Given the description of an element on the screen output the (x, y) to click on. 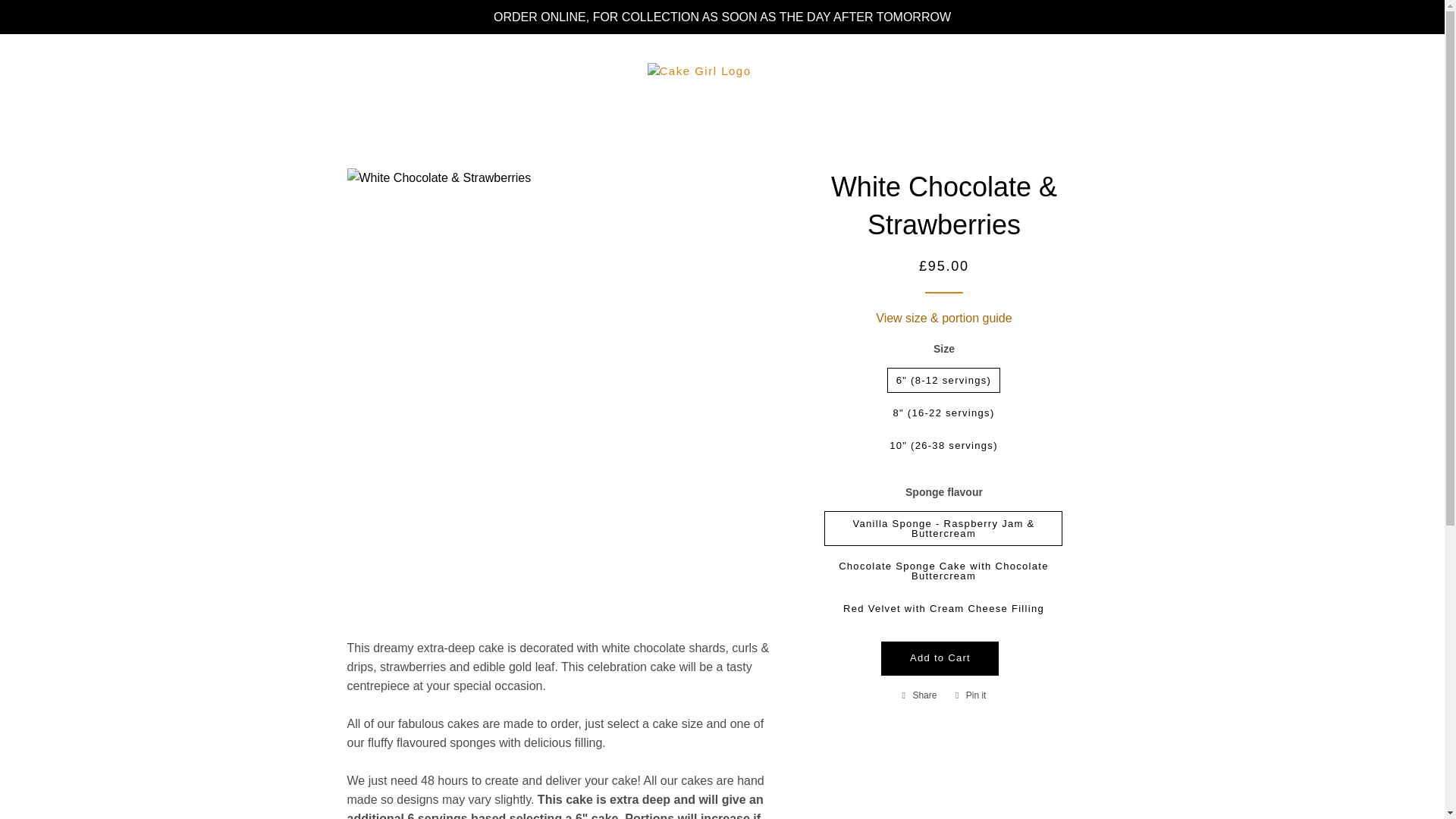
Pin on Pinterest (970, 695)
Share on Facebook (919, 695)
